Given the description of an element on the screen output the (x, y) to click on. 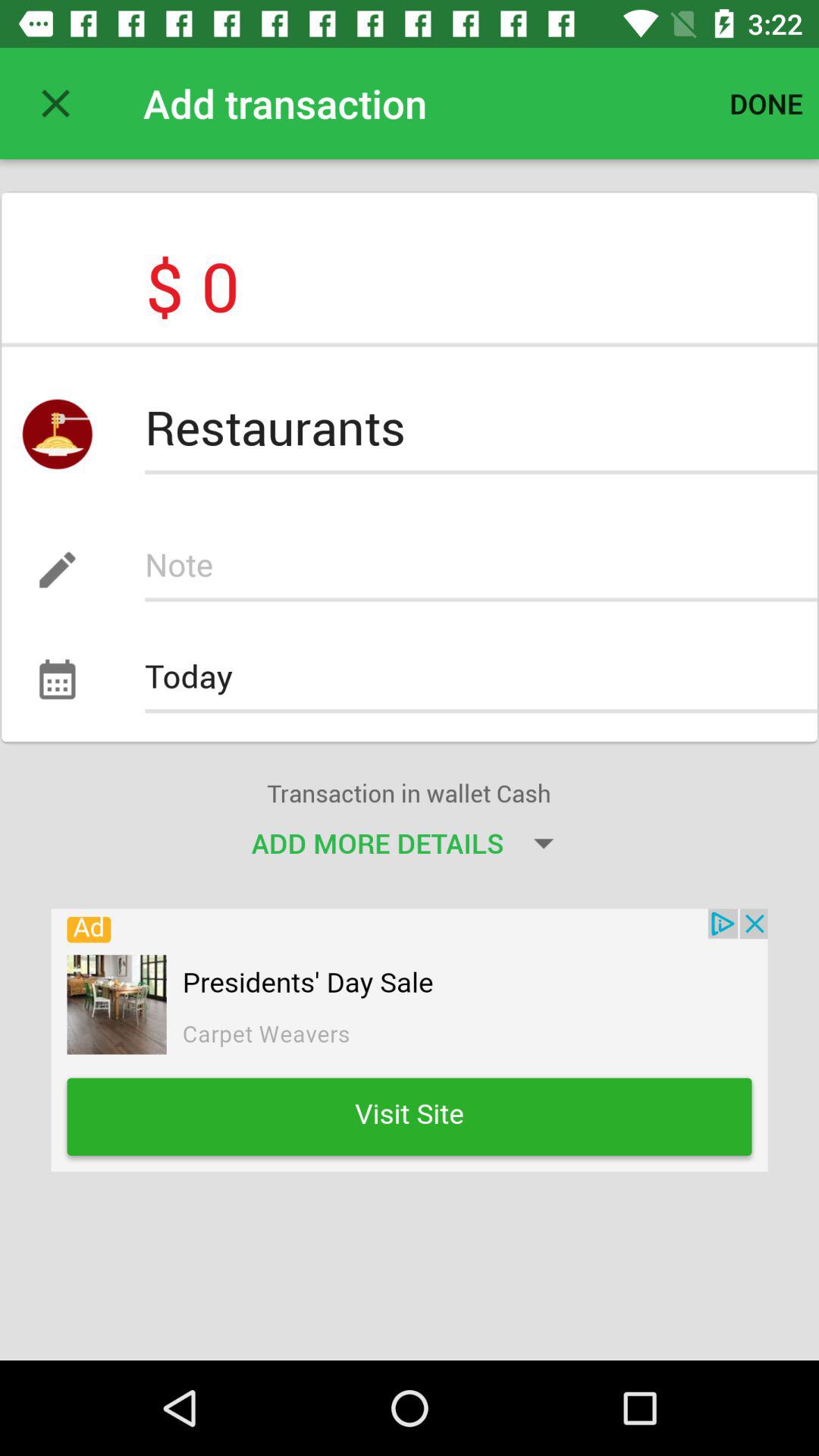
open advertisement (409, 1039)
